Given the description of an element on the screen output the (x, y) to click on. 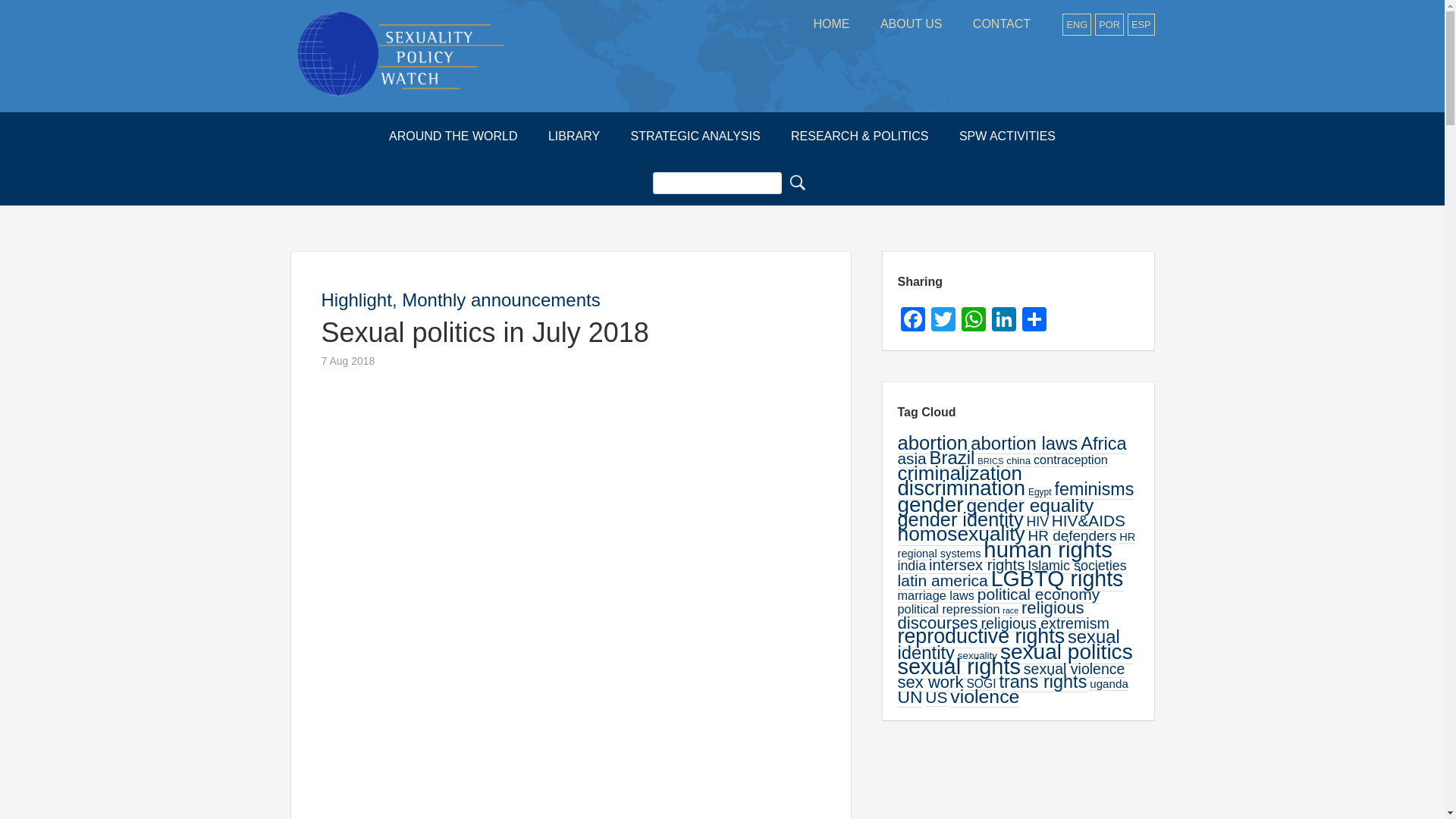
WhatsApp (973, 320)
Monthly announcements (500, 299)
HOME (831, 24)
LIBRARY (573, 136)
Highlight (356, 299)
STRATEGIC ANALYSIS (695, 136)
ESP (1140, 24)
AROUND THE WORLD (453, 136)
POR (1109, 24)
ENG (1076, 24)
